Given the description of an element on the screen output the (x, y) to click on. 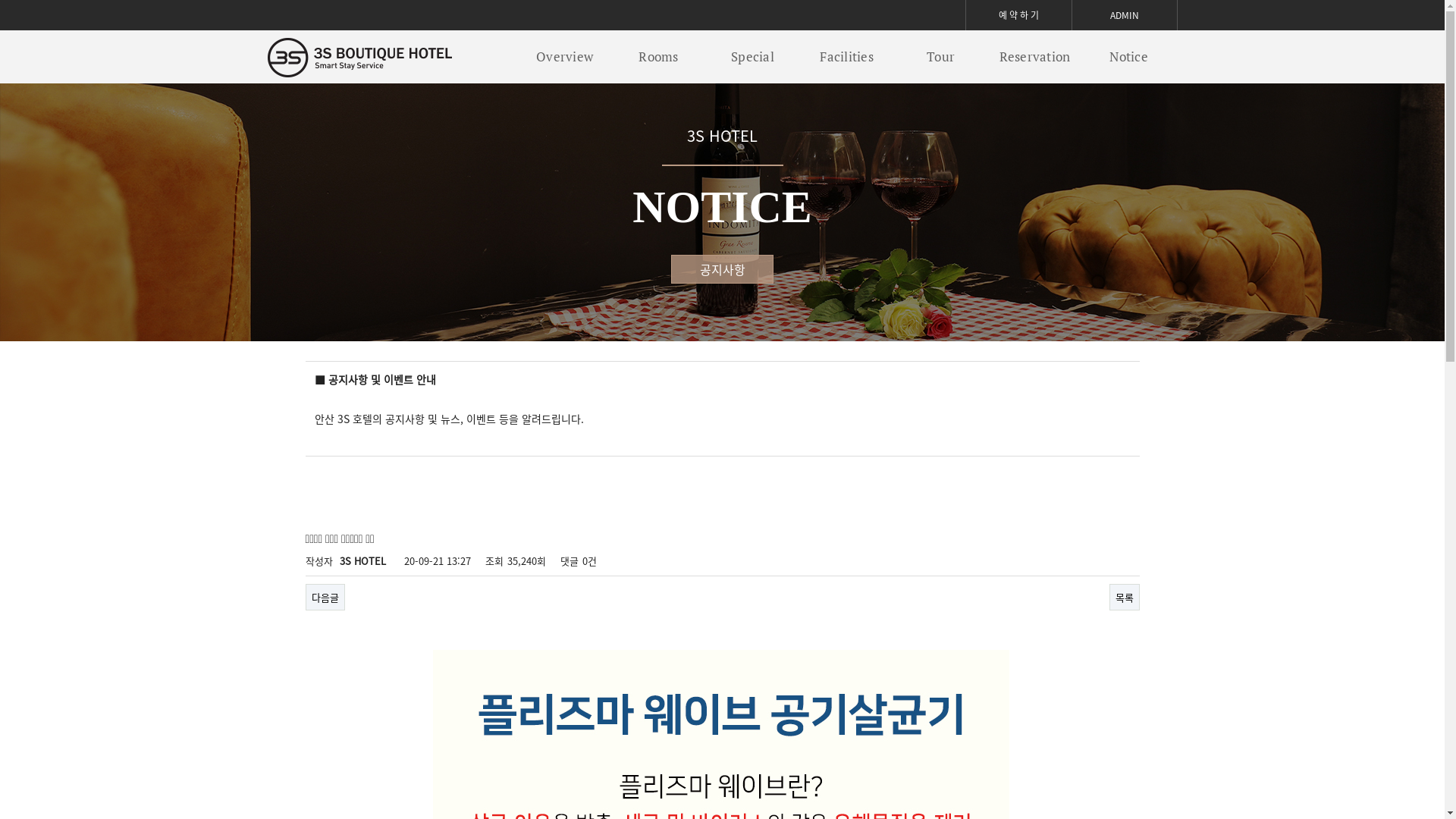
Reservation Element type: text (1034, 56)
Overview Element type: text (564, 56)
Rooms Element type: text (658, 56)
Notice Element type: text (1128, 56)
Tour Element type: text (940, 56)
Special Element type: text (752, 56)
Facilities Element type: text (846, 56)
ADMIN Element type: text (1124, 15)
